Given the description of an element on the screen output the (x, y) to click on. 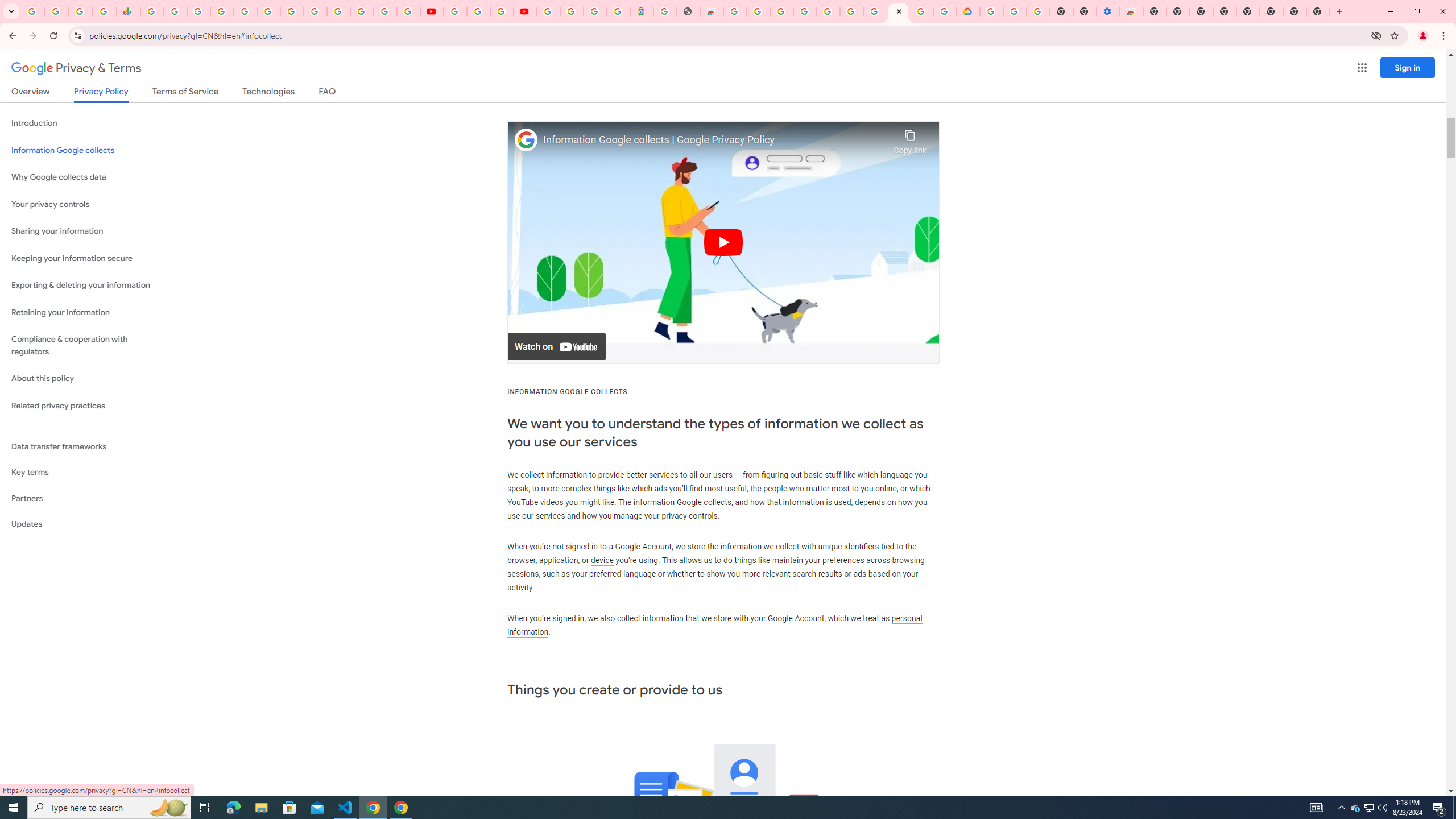
Browse the Google Chrome Community - Google Chrome Community (945, 11)
Your privacy controls (86, 204)
Exporting & deleting your information (86, 284)
YouTube (314, 11)
Turn cookies on or off - Computer - Google Account Help (1038, 11)
Data transfer frameworks (86, 446)
Google Account Help (1015, 11)
Copy link (909, 139)
device (601, 560)
